Given the description of an element on the screen output the (x, y) to click on. 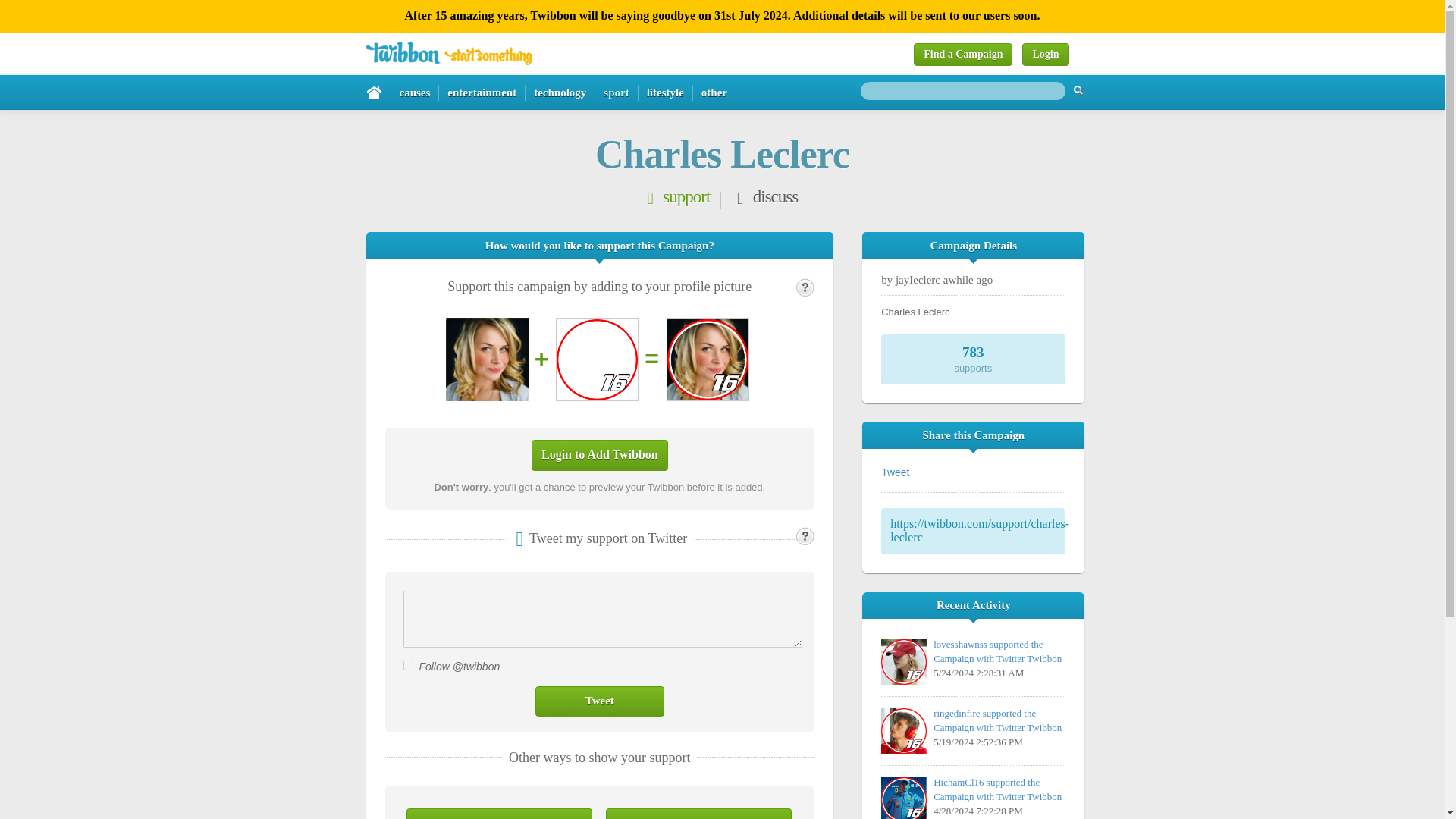
lovesshawnss supported the Campaign with Twitter Twibbon (997, 651)
Tweet (599, 700)
Twibbon (448, 53)
support (676, 200)
? (804, 287)
Discuss this Campaign (499, 813)
Send an Email (697, 813)
technology (560, 92)
entertainment (481, 92)
? (804, 536)
sport (616, 92)
Find a Campaign (962, 54)
Login (1045, 54)
discuss (766, 200)
Tweet (599, 700)
